Given the description of an element on the screen output the (x, y) to click on. 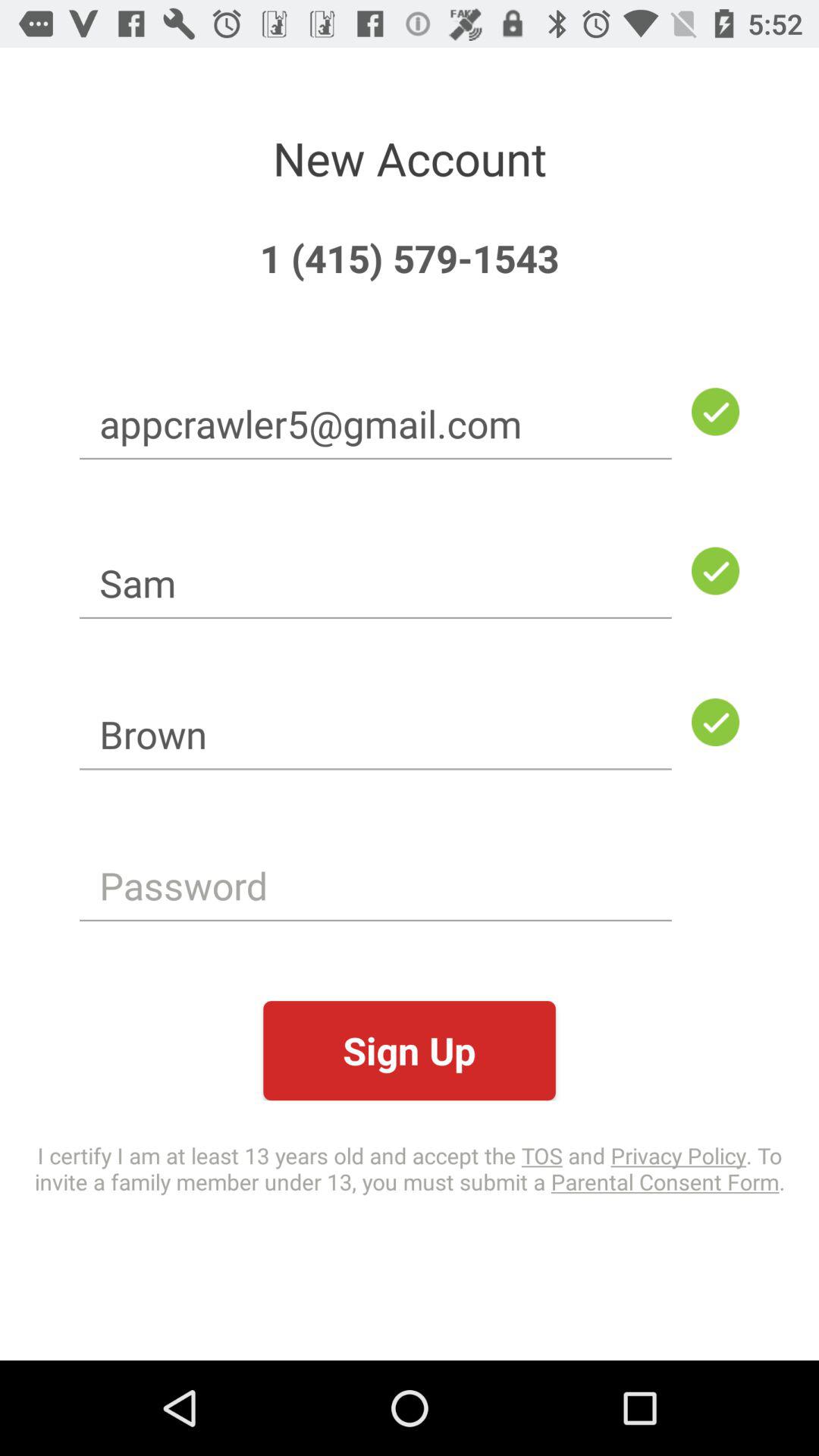
turn on the brown item (375, 734)
